Given the description of an element on the screen output the (x, y) to click on. 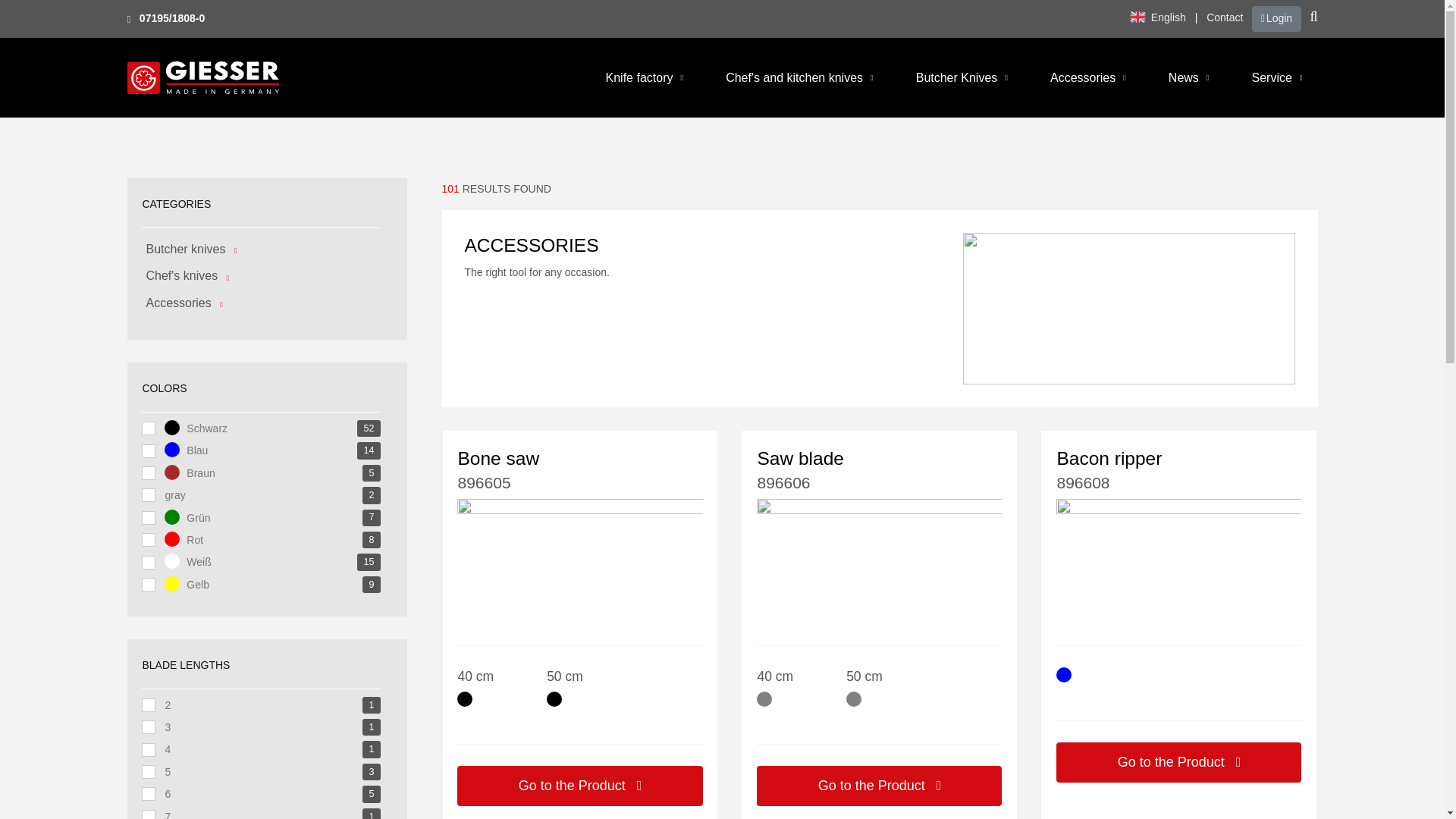
Chef's and kitchen knives (793, 77)
Accessories (1082, 77)
Butcher Knives (955, 77)
Contact (1225, 17)
Knife factory (638, 77)
Login (1276, 18)
English (1157, 17)
